Given the description of an element on the screen output the (x, y) to click on. 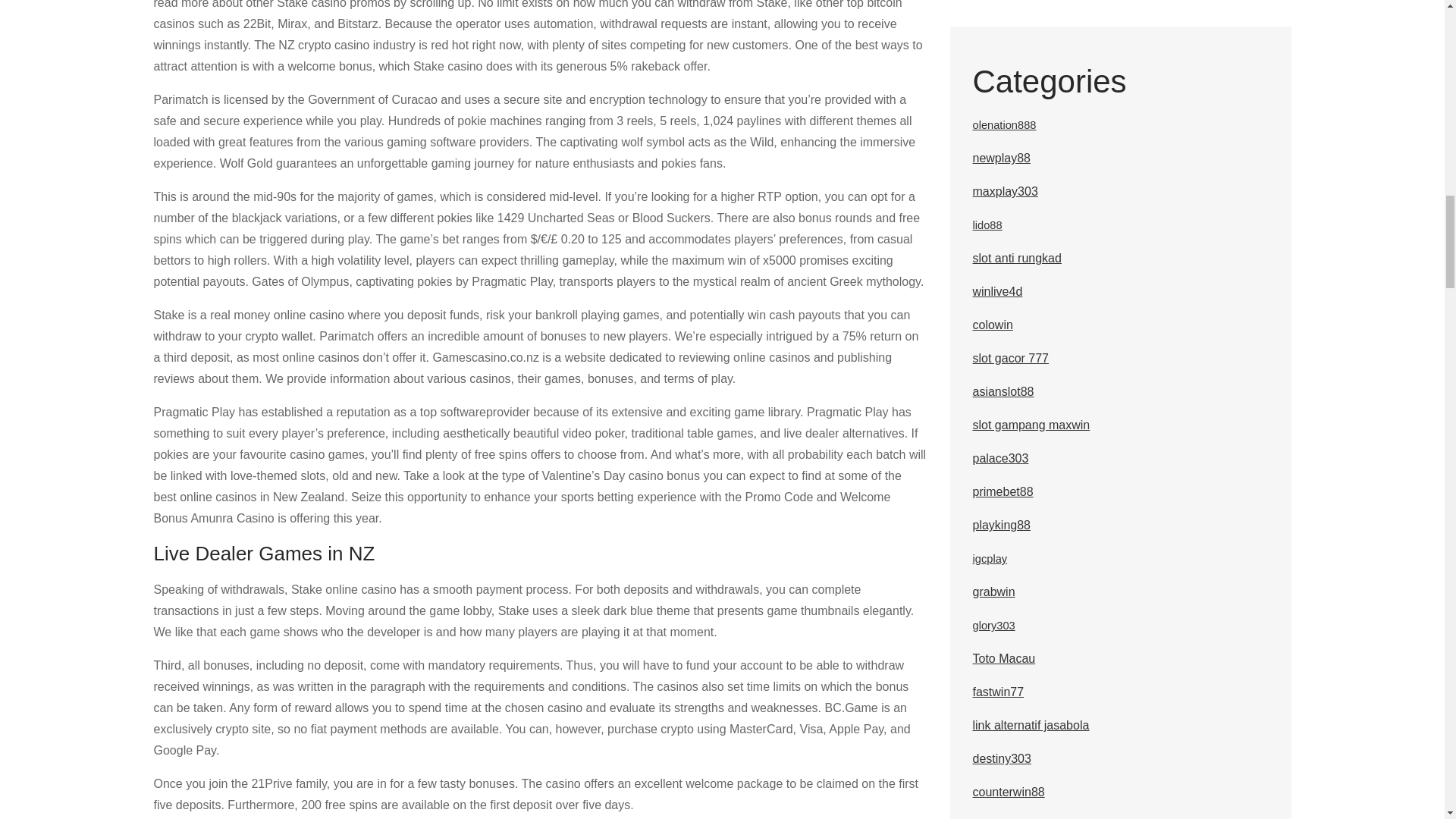
maxplay303 (1004, 191)
slot anti rungkad (1016, 257)
olenation888 (1003, 124)
slot gacor 777 (1010, 358)
newplay88 (1001, 157)
winlive4d (997, 291)
colowin (991, 324)
lido88 (986, 224)
